Given the description of an element on the screen output the (x, y) to click on. 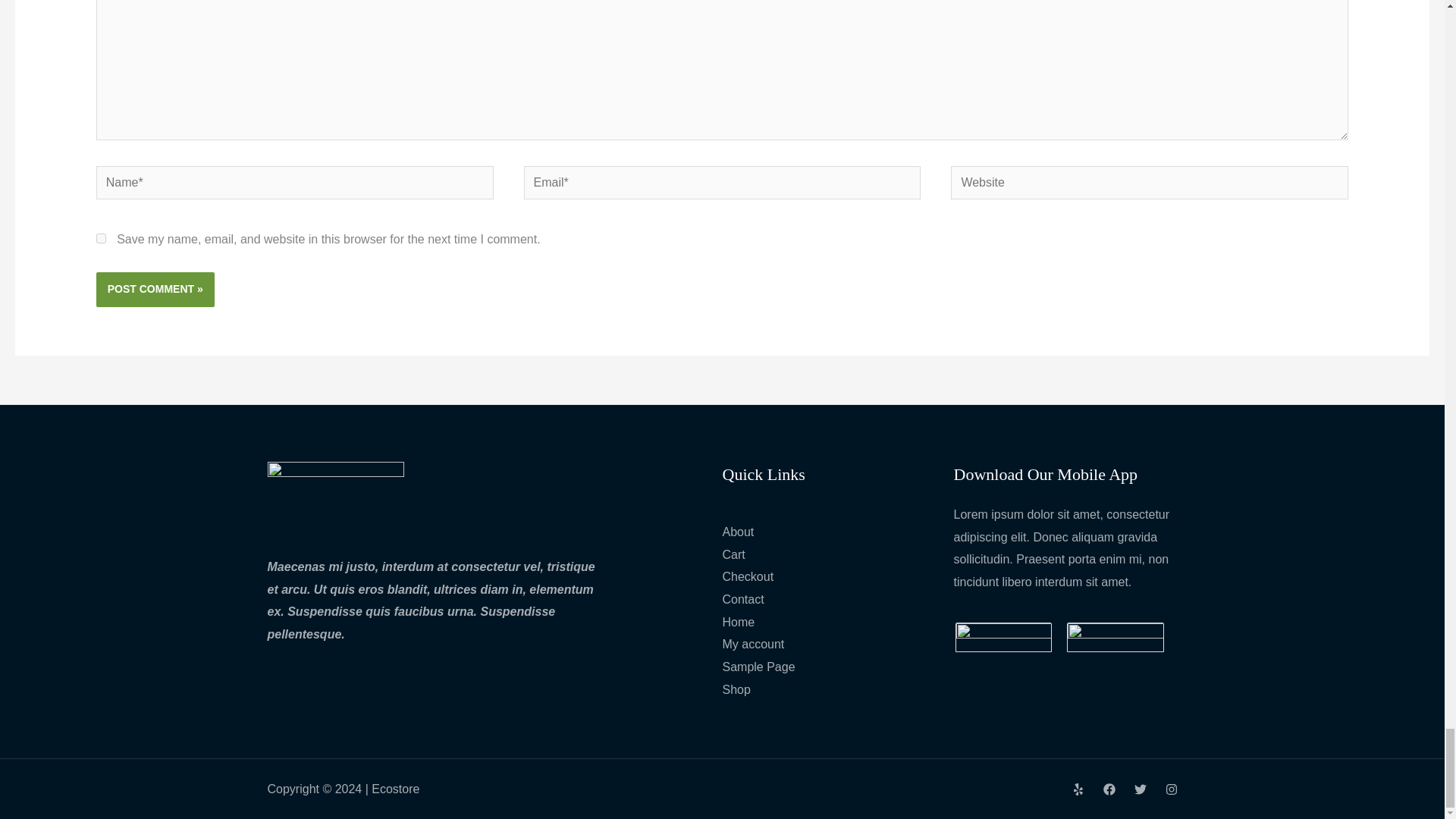
Cart (733, 554)
Checkout (747, 576)
My account (753, 644)
yes (101, 238)
Sample Page (758, 666)
Shop (735, 689)
Contact (742, 599)
Home (738, 621)
About (738, 531)
